Given the description of an element on the screen output the (x, y) to click on. 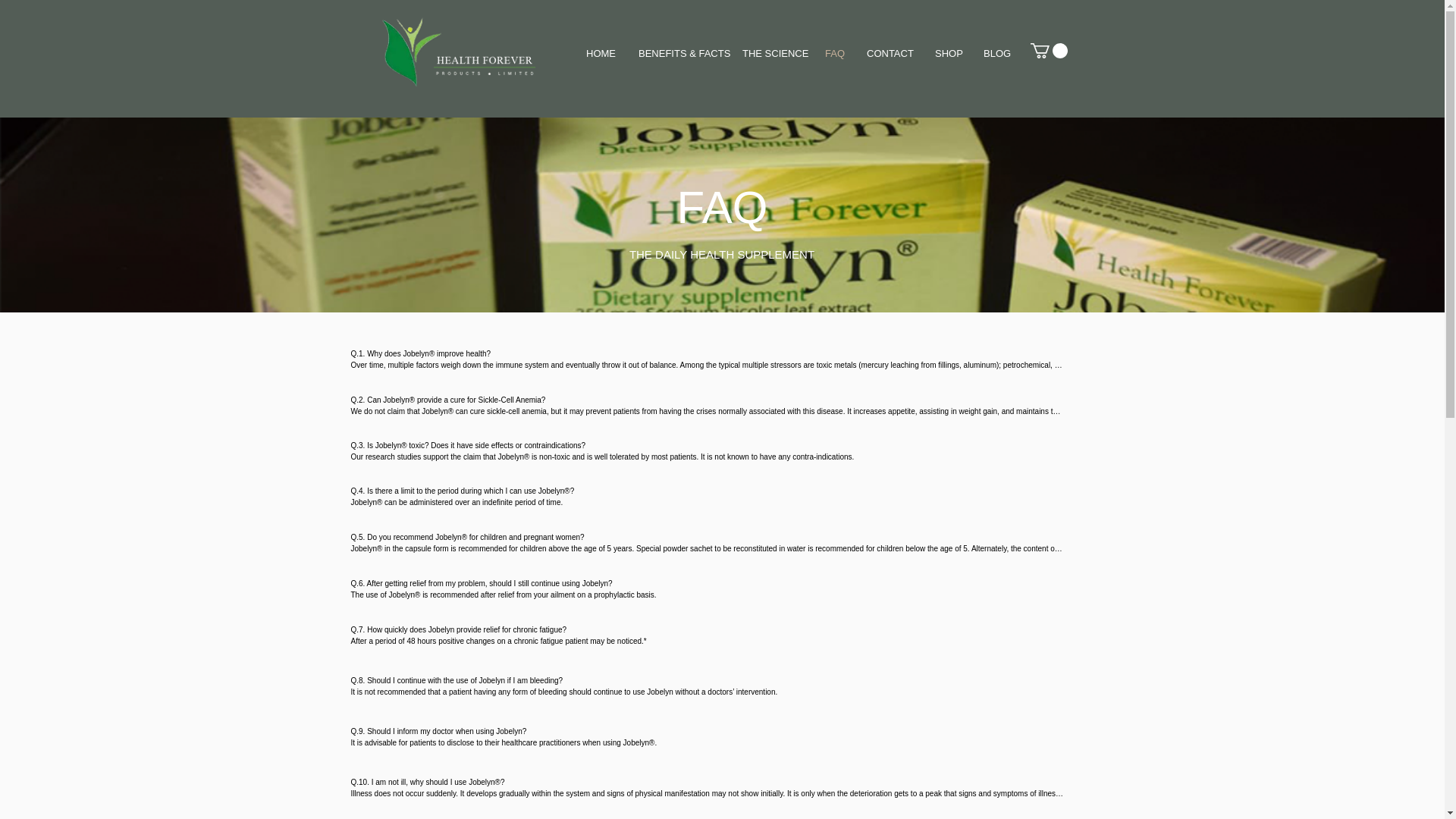
HOME (601, 53)
SHOP (947, 53)
BLOG (996, 53)
CONTACT (889, 53)
FAQ (834, 53)
THE SCIENCE (771, 53)
